Given the description of an element on the screen output the (x, y) to click on. 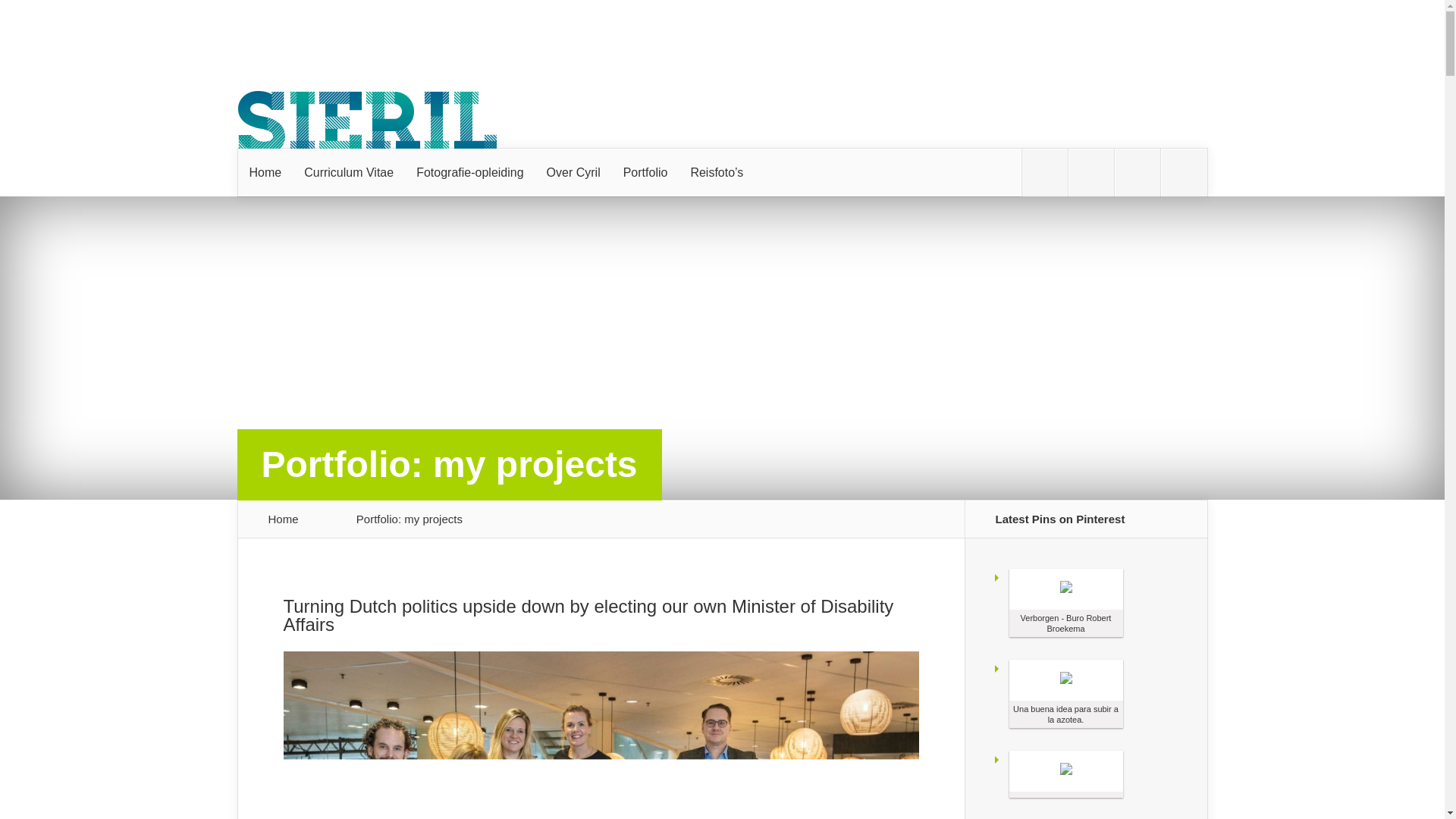
Follow us on Twitter (1044, 172)
Follow us on Facebook (1090, 172)
Portfolio (645, 172)
Home (266, 172)
Curriculum Vitae (348, 172)
Over Cyril (573, 172)
Subscribe To Rss Feed (1137, 172)
Home (283, 518)
Fotografie-opleiding (469, 172)
